Given the description of an element on the screen output the (x, y) to click on. 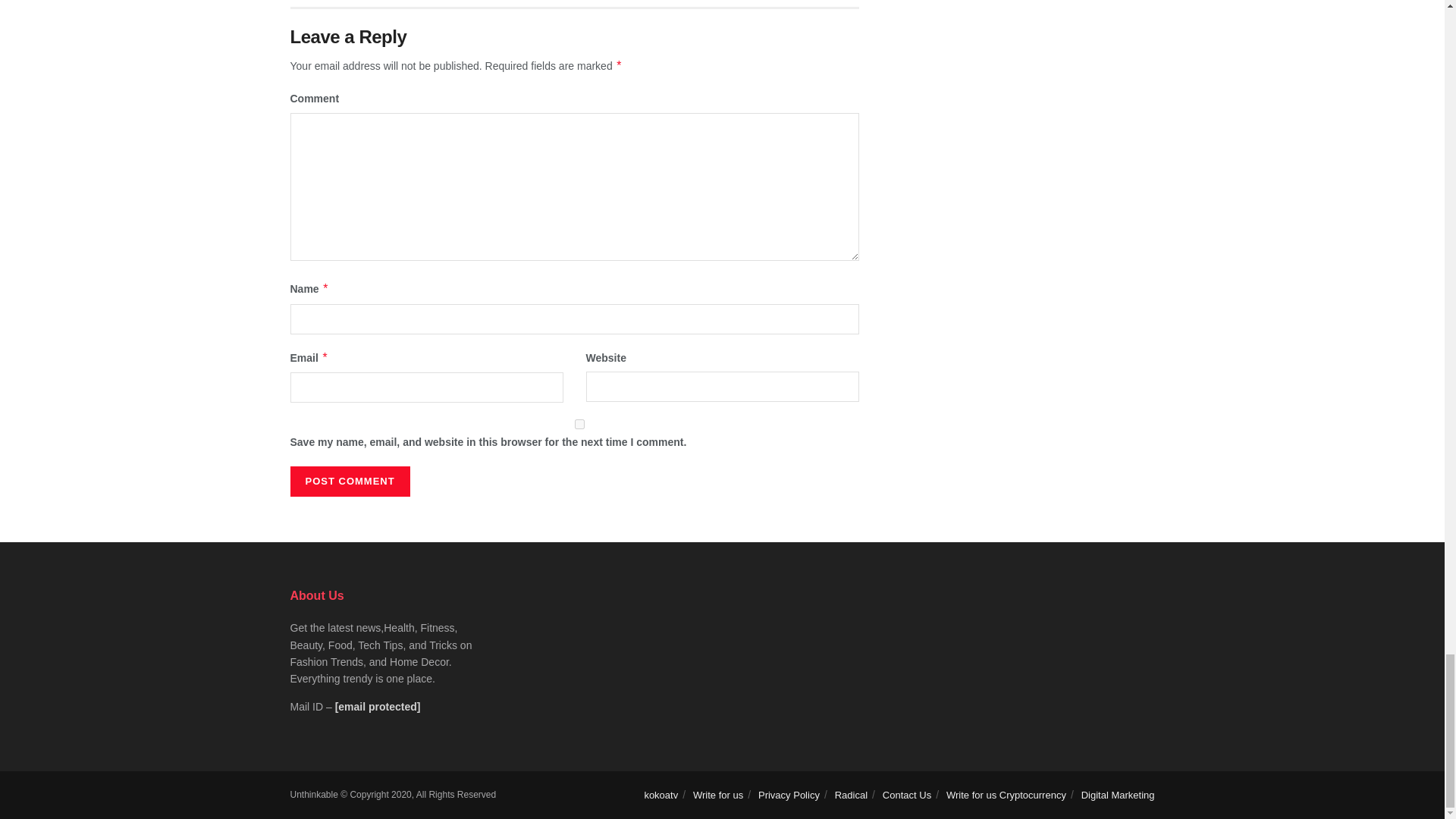
yes (580, 424)
Post Comment (349, 481)
